Given the description of an element on the screen output the (x, y) to click on. 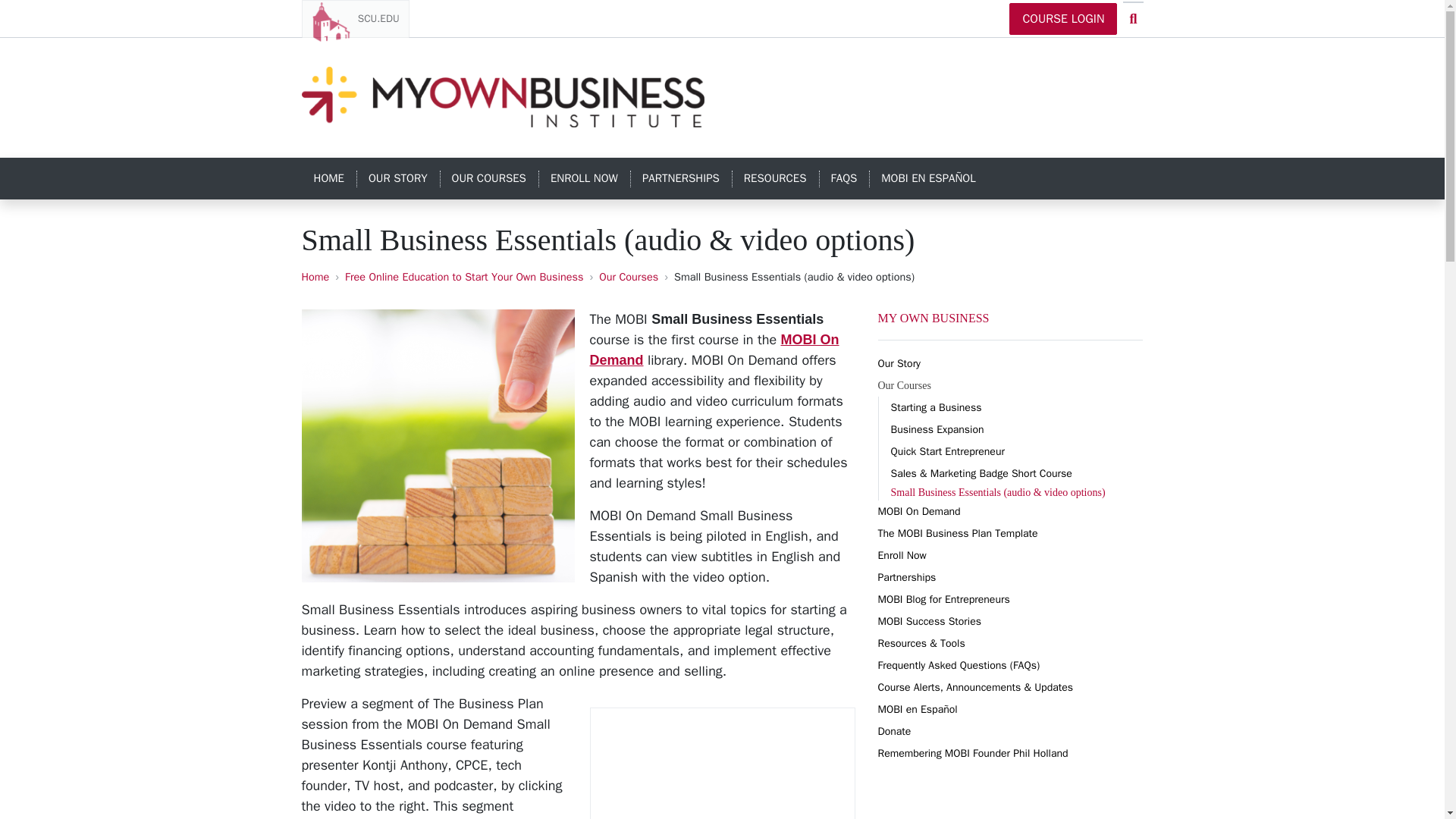
SCU.EDU (355, 18)
Video Grid 03: MOBI On Demand Preview The Business Plan (722, 763)
